Given the description of an element on the screen output the (x, y) to click on. 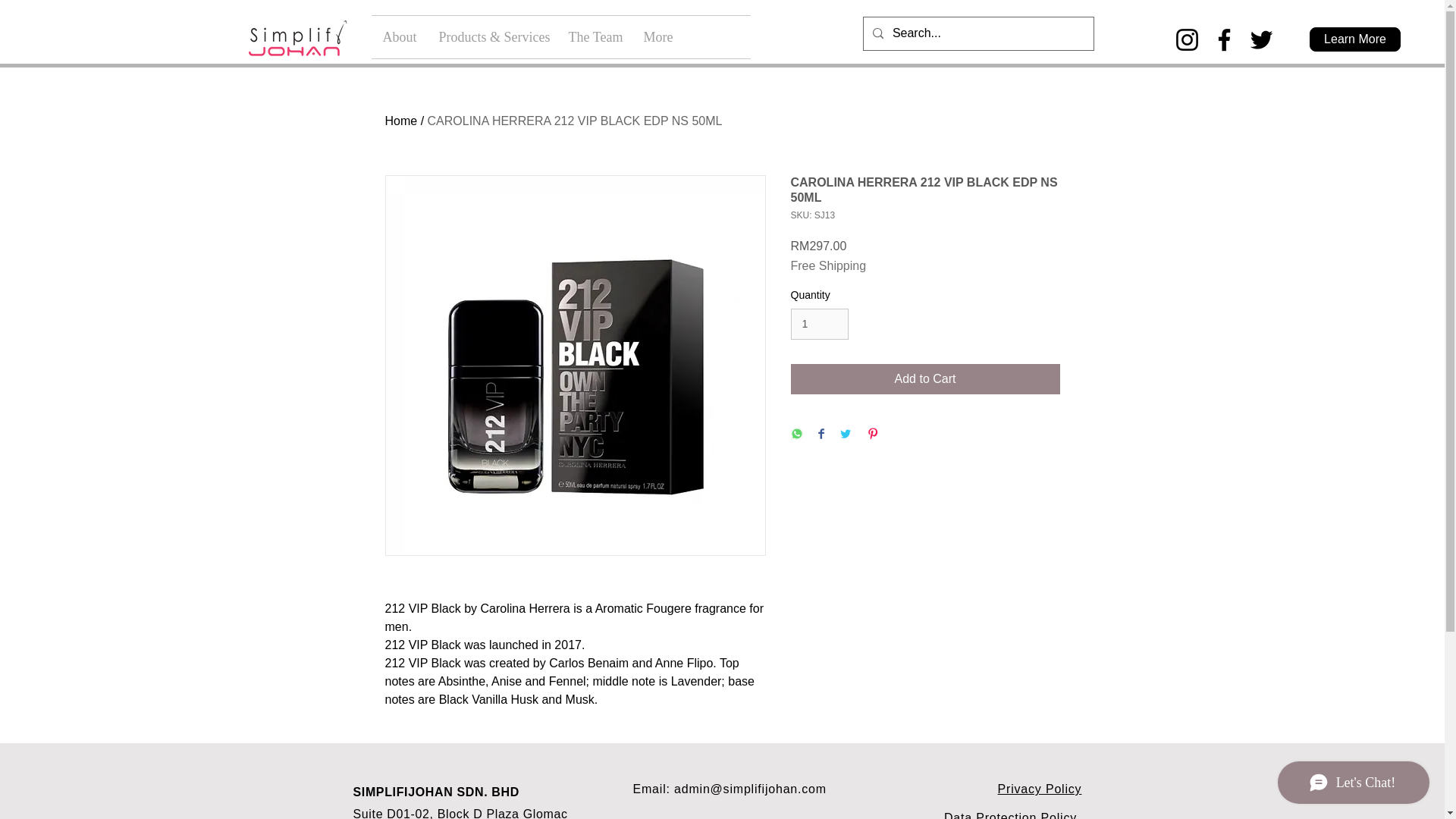
Home (401, 120)
1 (818, 323)
Add to Cart (924, 378)
Free Shipping (828, 265)
The Team (593, 36)
About (399, 36)
CAROLINA HERRERA 212 VIP BLACK EDP NS 50ML (575, 120)
Privacy Policy (1039, 788)
Data Protection Policy (1010, 815)
Learn More (1354, 39)
